Given the description of an element on the screen output the (x, y) to click on. 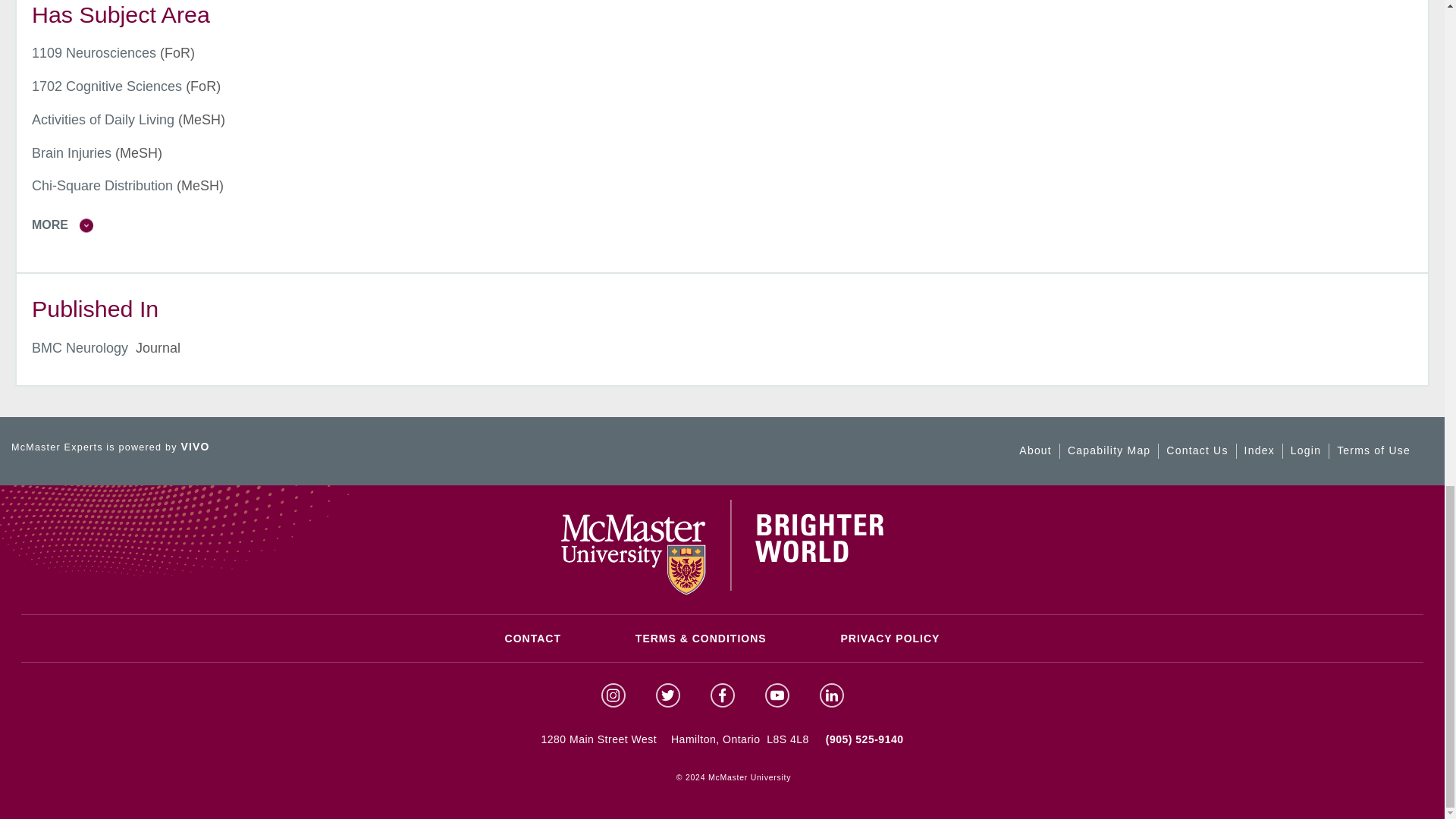
concept name (72, 152)
concept name (107, 86)
concept name (103, 119)
concept name (93, 52)
concept name (102, 185)
